Given the description of an element on the screen output the (x, y) to click on. 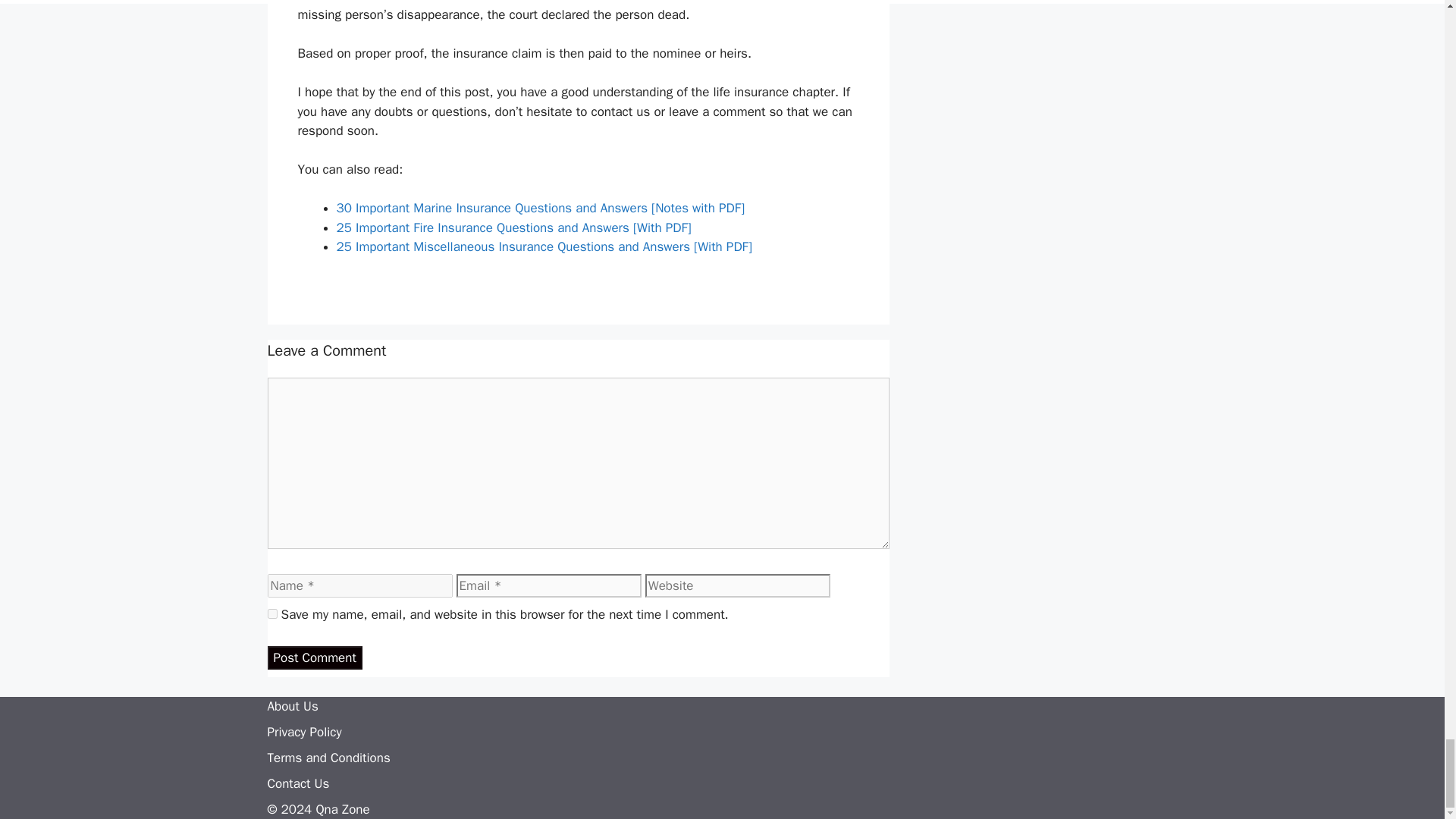
Privacy Policy (303, 731)
yes (271, 614)
Post Comment (313, 658)
Post Comment (313, 658)
Terms and Conditions (328, 757)
Contact Us (297, 783)
About Us (291, 706)
